Given the description of an element on the screen output the (x, y) to click on. 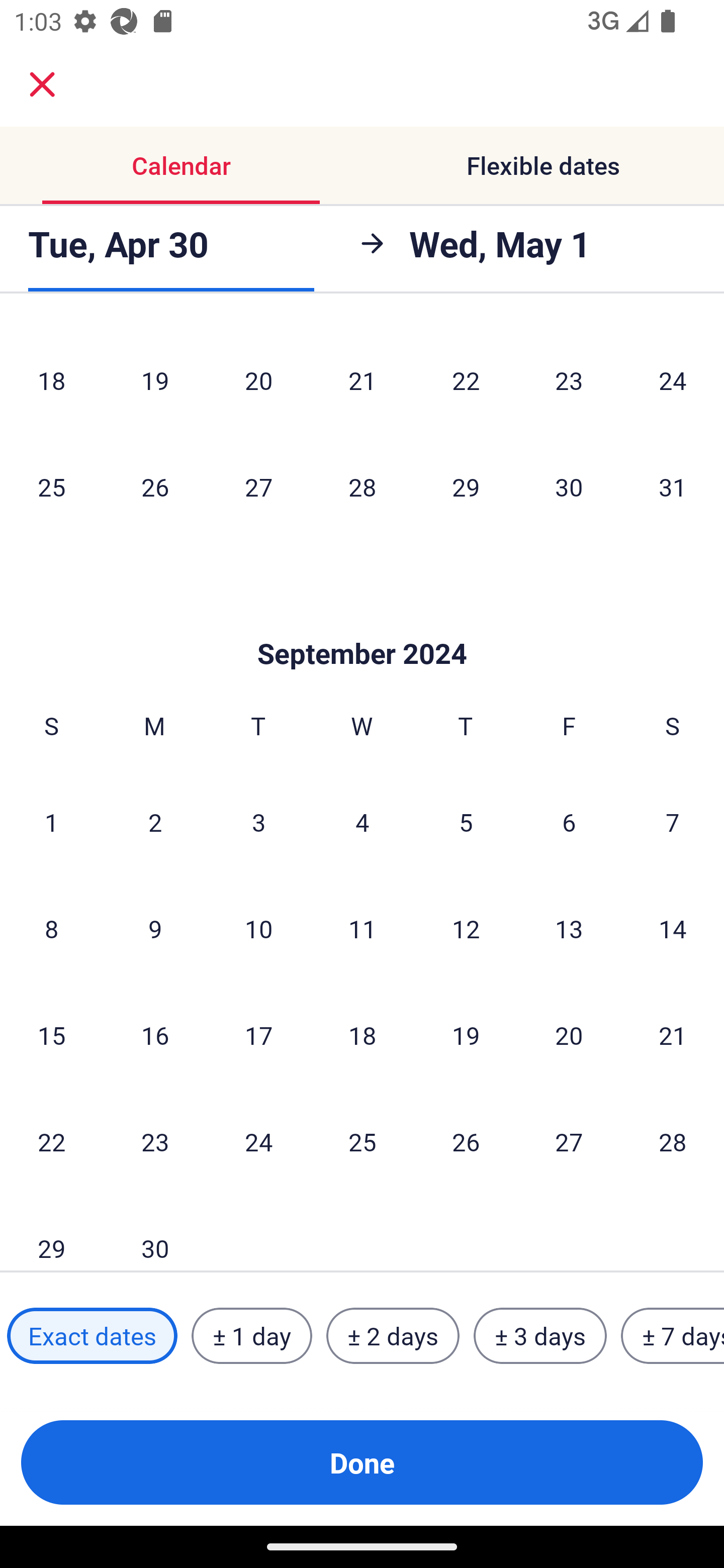
close. (42, 84)
Flexible dates (542, 164)
18 Sunday, August 18, 2024 (51, 380)
19 Monday, August 19, 2024 (155, 380)
20 Tuesday, August 20, 2024 (258, 380)
21 Wednesday, August 21, 2024 (362, 380)
22 Thursday, August 22, 2024 (465, 380)
23 Friday, August 23, 2024 (569, 380)
24 Saturday, August 24, 2024 (672, 380)
25 Sunday, August 25, 2024 (51, 486)
26 Monday, August 26, 2024 (155, 486)
27 Tuesday, August 27, 2024 (258, 486)
28 Wednesday, August 28, 2024 (362, 486)
29 Thursday, August 29, 2024 (465, 486)
30 Friday, August 30, 2024 (569, 486)
31 Saturday, August 31, 2024 (672, 486)
Skip to Done (362, 623)
1 Sunday, September 1, 2024 (51, 821)
2 Monday, September 2, 2024 (155, 821)
3 Tuesday, September 3, 2024 (258, 821)
4 Wednesday, September 4, 2024 (362, 821)
5 Thursday, September 5, 2024 (465, 821)
6 Friday, September 6, 2024 (569, 821)
7 Saturday, September 7, 2024 (672, 821)
8 Sunday, September 8, 2024 (51, 928)
9 Monday, September 9, 2024 (155, 928)
10 Tuesday, September 10, 2024 (258, 928)
11 Wednesday, September 11, 2024 (362, 928)
12 Thursday, September 12, 2024 (465, 928)
13 Friday, September 13, 2024 (569, 928)
14 Saturday, September 14, 2024 (672, 928)
15 Sunday, September 15, 2024 (51, 1034)
16 Monday, September 16, 2024 (155, 1034)
17 Tuesday, September 17, 2024 (258, 1034)
18 Wednesday, September 18, 2024 (362, 1034)
19 Thursday, September 19, 2024 (465, 1034)
20 Friday, September 20, 2024 (569, 1034)
21 Saturday, September 21, 2024 (672, 1034)
22 Sunday, September 22, 2024 (51, 1141)
23 Monday, September 23, 2024 (155, 1141)
24 Tuesday, September 24, 2024 (258, 1141)
25 Wednesday, September 25, 2024 (362, 1141)
26 Thursday, September 26, 2024 (465, 1141)
27 Friday, September 27, 2024 (569, 1141)
28 Saturday, September 28, 2024 (672, 1141)
29 Sunday, September 29, 2024 (51, 1233)
30 Monday, September 30, 2024 (155, 1233)
Exact dates (92, 1335)
± 1 day (251, 1335)
± 2 days (392, 1335)
± 3 days (539, 1335)
± 7 days (672, 1335)
Done (361, 1462)
